Given the description of an element on the screen output the (x, y) to click on. 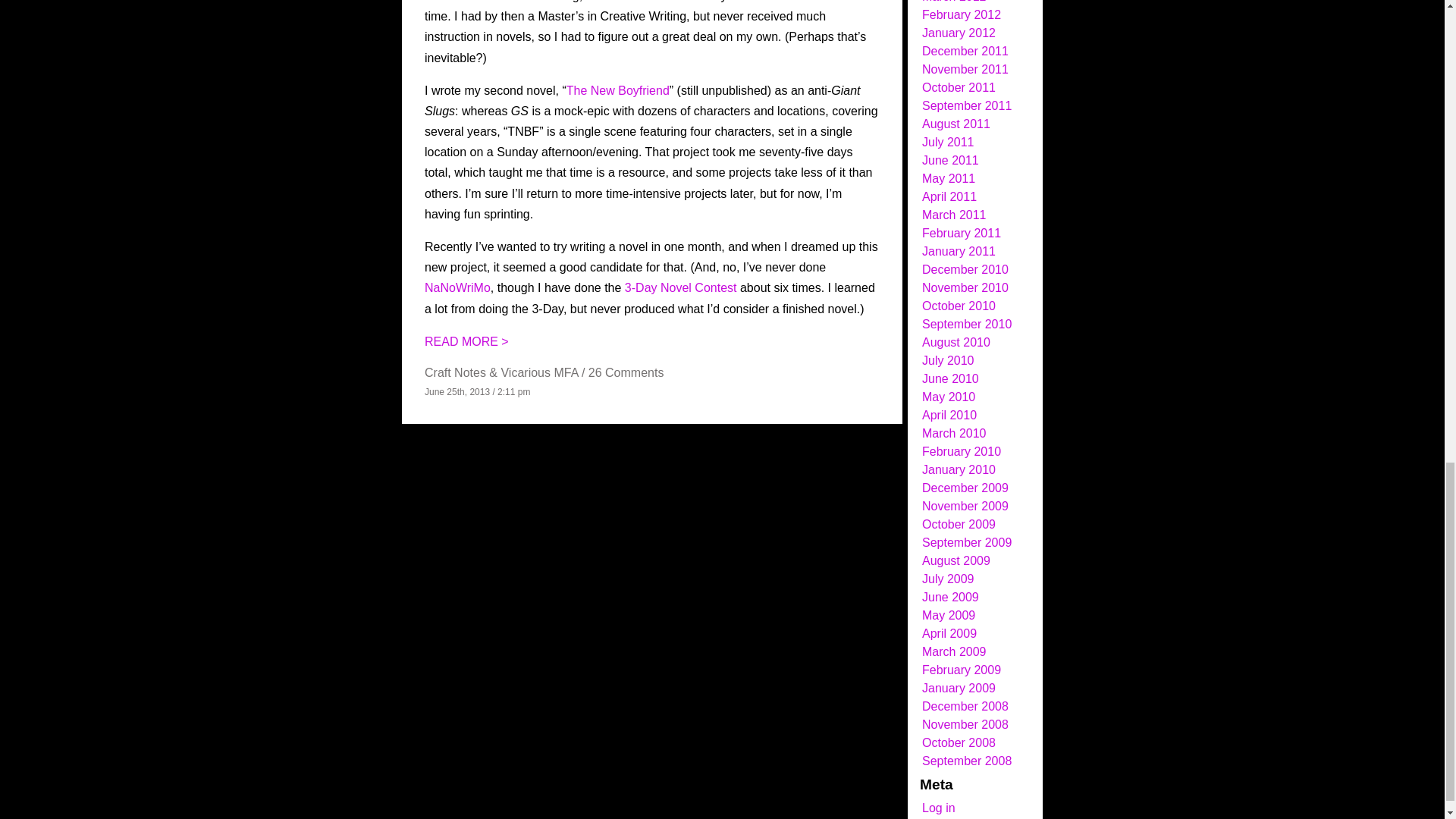
NaNoWriMo (457, 287)
Vicarious MFA (539, 372)
26 Comments (625, 372)
3-Day Novel Contest (680, 287)
The New Boyfriend (617, 90)
Craft Notes (455, 372)
